Given the description of an element on the screen output the (x, y) to click on. 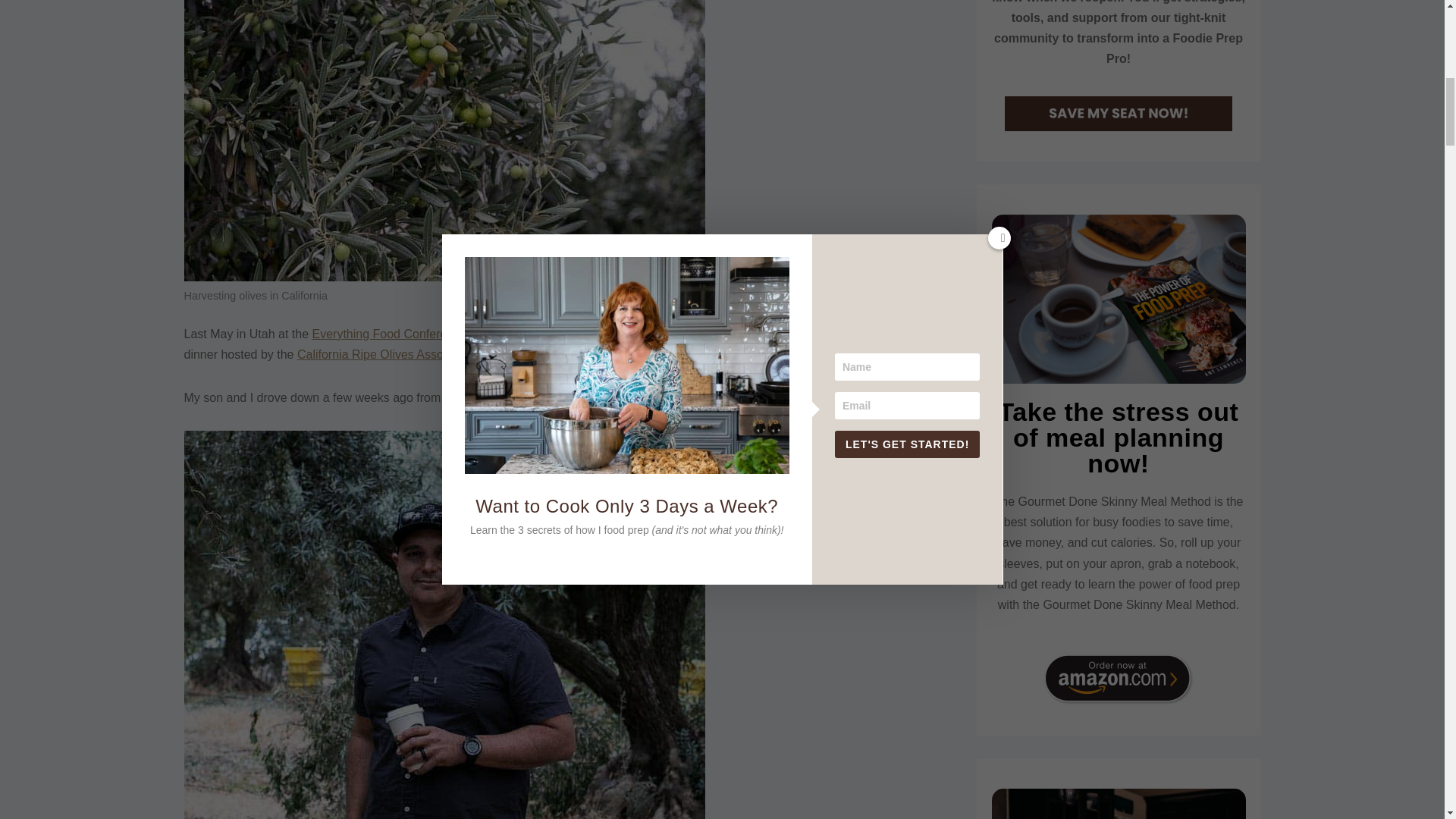
buy-on-amazon-button (1117, 678)
Screen Shot 2022-10-17 at 1.58.53 PM (1117, 113)
